Given the description of an element on the screen output the (x, y) to click on. 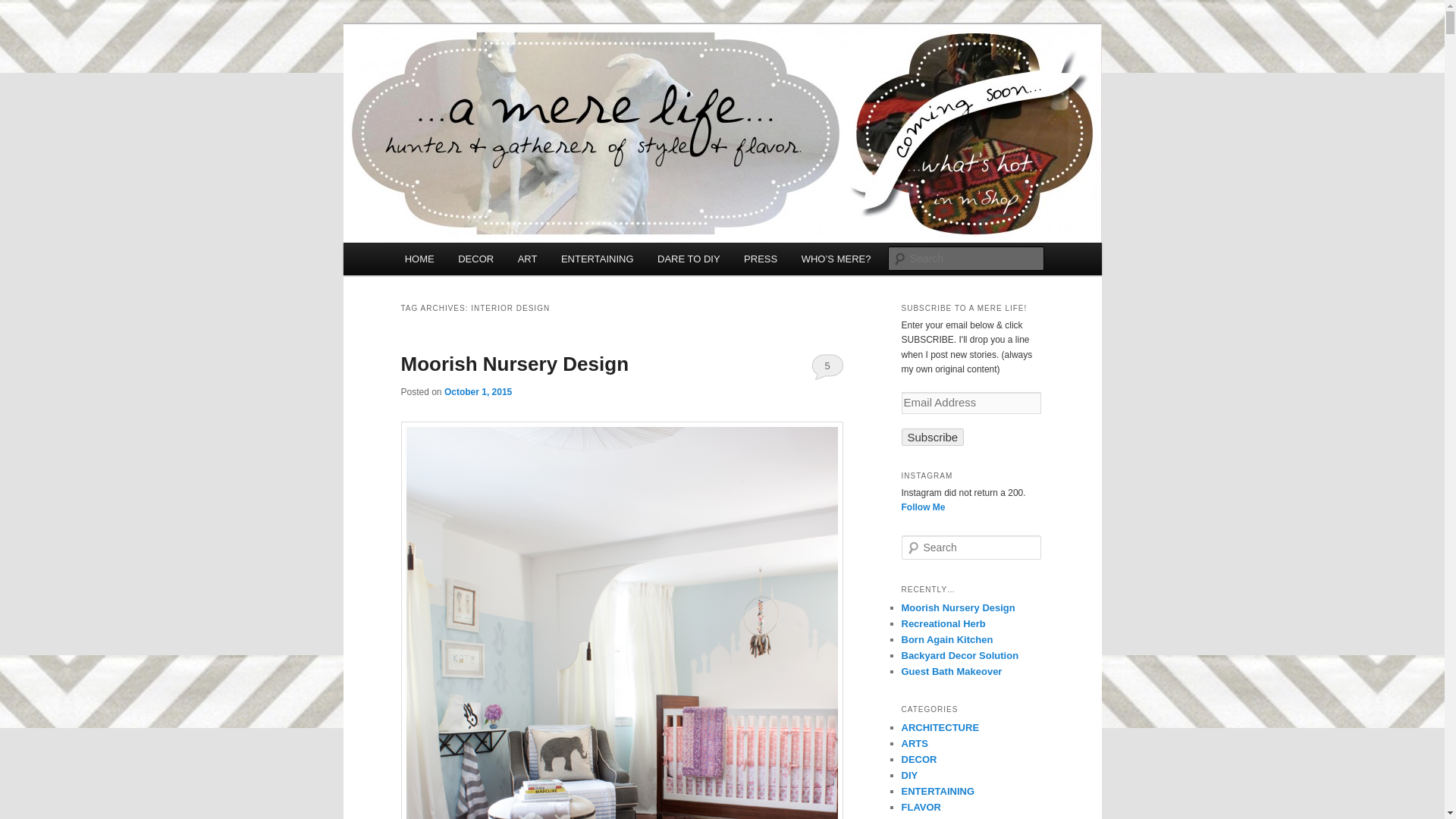
7:52 am (478, 391)
Subscribe (932, 436)
October 1, 2015 (478, 391)
ART (526, 258)
5 (827, 366)
Search (24, 8)
ENTERTAINING (596, 258)
DARE TO DIY (688, 258)
a Mere Life (459, 78)
Moorish Nursery Design (514, 363)
PRESS (760, 258)
HOME (419, 258)
DECOR (475, 258)
